Given the description of an element on the screen output the (x, y) to click on. 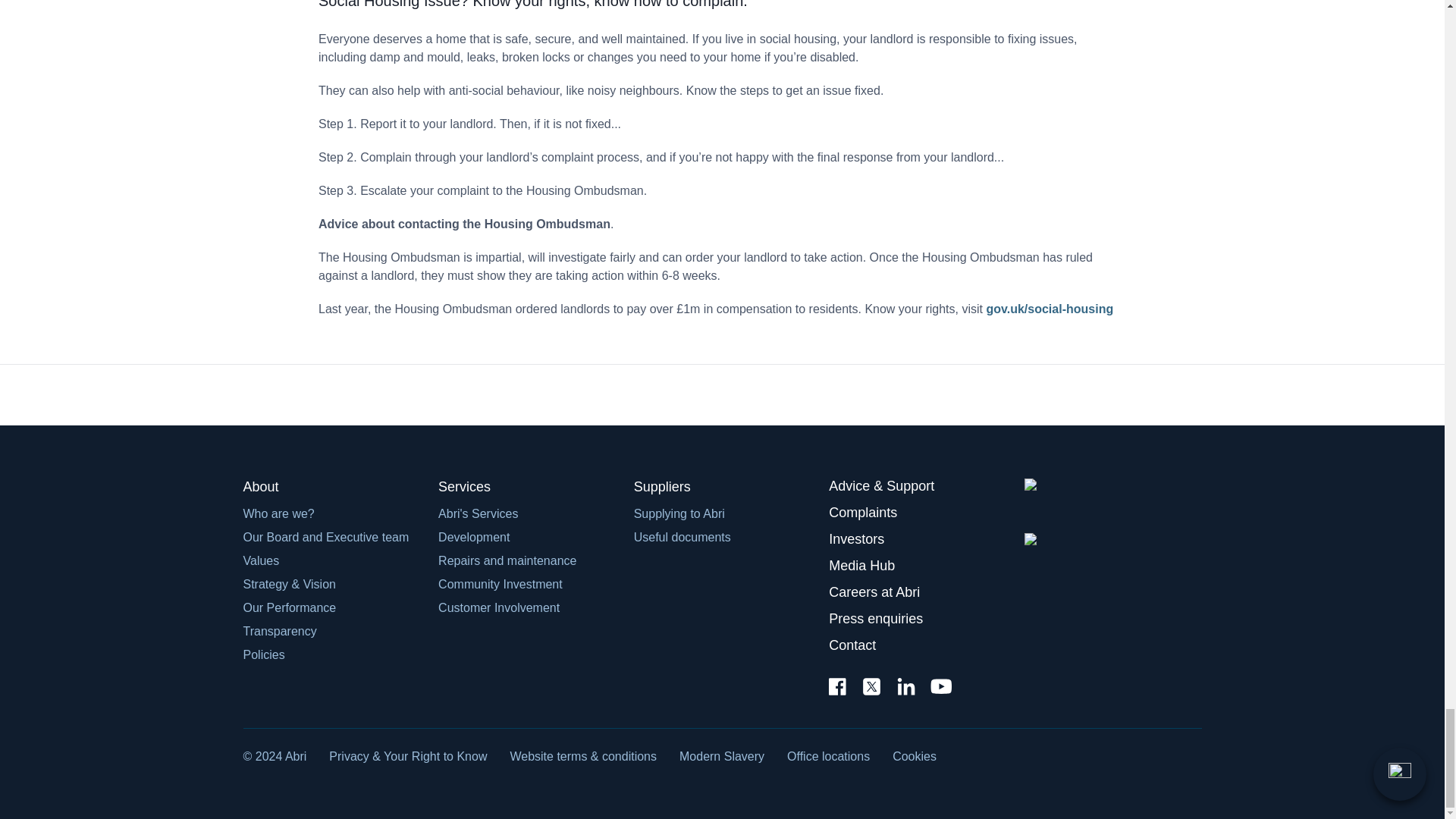
Modern Slavery (721, 756)
Office locations (828, 756)
Youtube (941, 687)
LinkedIn (905, 688)
Cookies (914, 756)
